Given the description of an element on the screen output the (x, y) to click on. 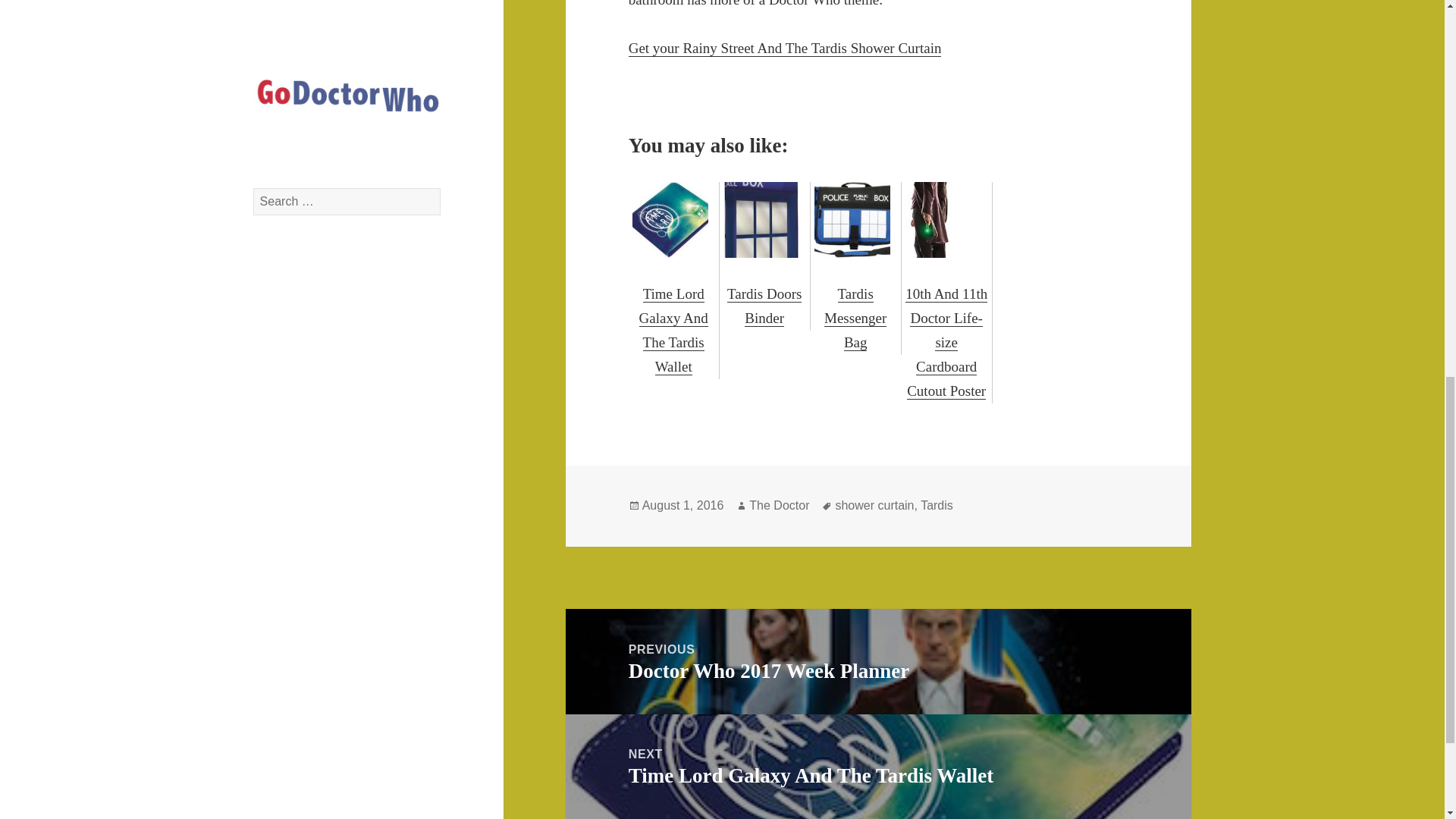
Tardis Messenger Bag (854, 266)
Time Lord Galaxy And The Tardis Wallet (672, 278)
Get your Rainy Street And The Tardis Shower Curtain (785, 48)
The Doctor (779, 505)
10th And 11th Doctor Life-size Cardboard Cutout Poster (946, 289)
August 1, 2016 (878, 661)
Tardis (682, 505)
Tardis Doors Binder (878, 766)
shower curtain (936, 505)
